Given the description of an element on the screen output the (x, y) to click on. 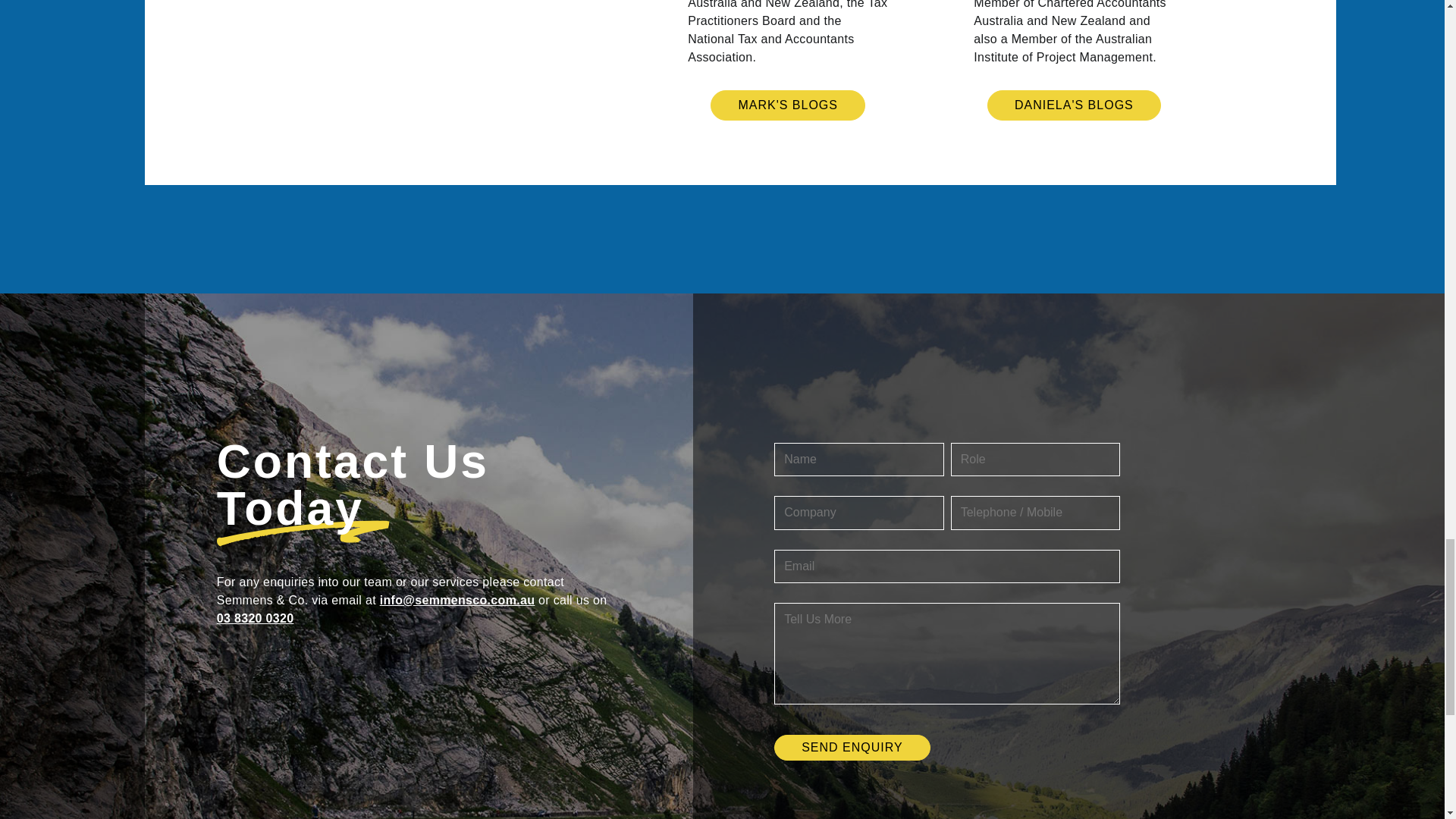
MARK'S BLOGS (787, 105)
03 8320 0320 (255, 617)
DANIELA'S BLOGS (1073, 105)
SEND ENQUIRY (852, 747)
